Given the description of an element on the screen output the (x, y) to click on. 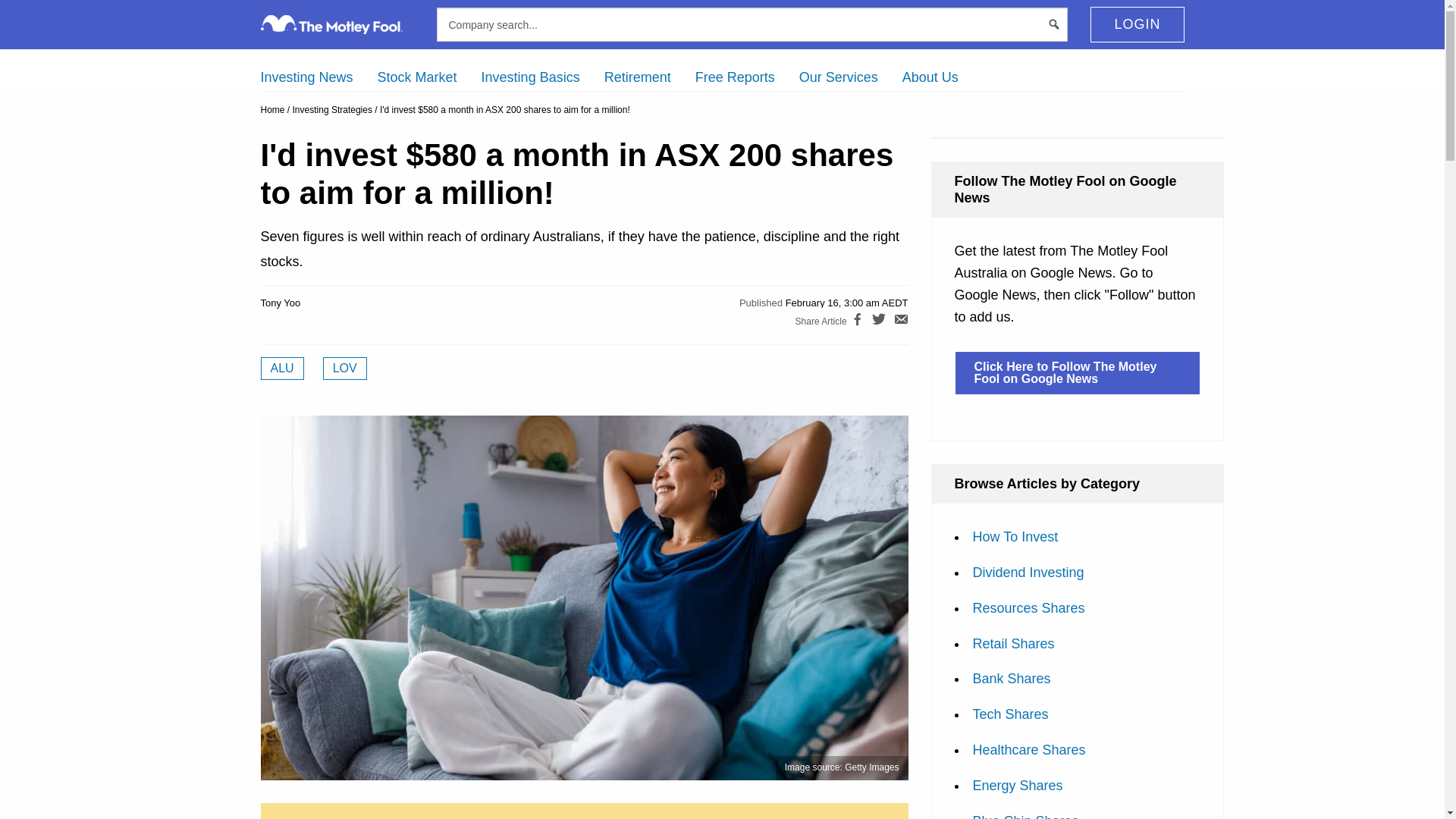
Stock Market (417, 78)
Investing News (306, 78)
See more articles about LOV (344, 368)
See more articles about ALU (282, 368)
LOGIN (1136, 24)
